Given the description of an element on the screen output the (x, y) to click on. 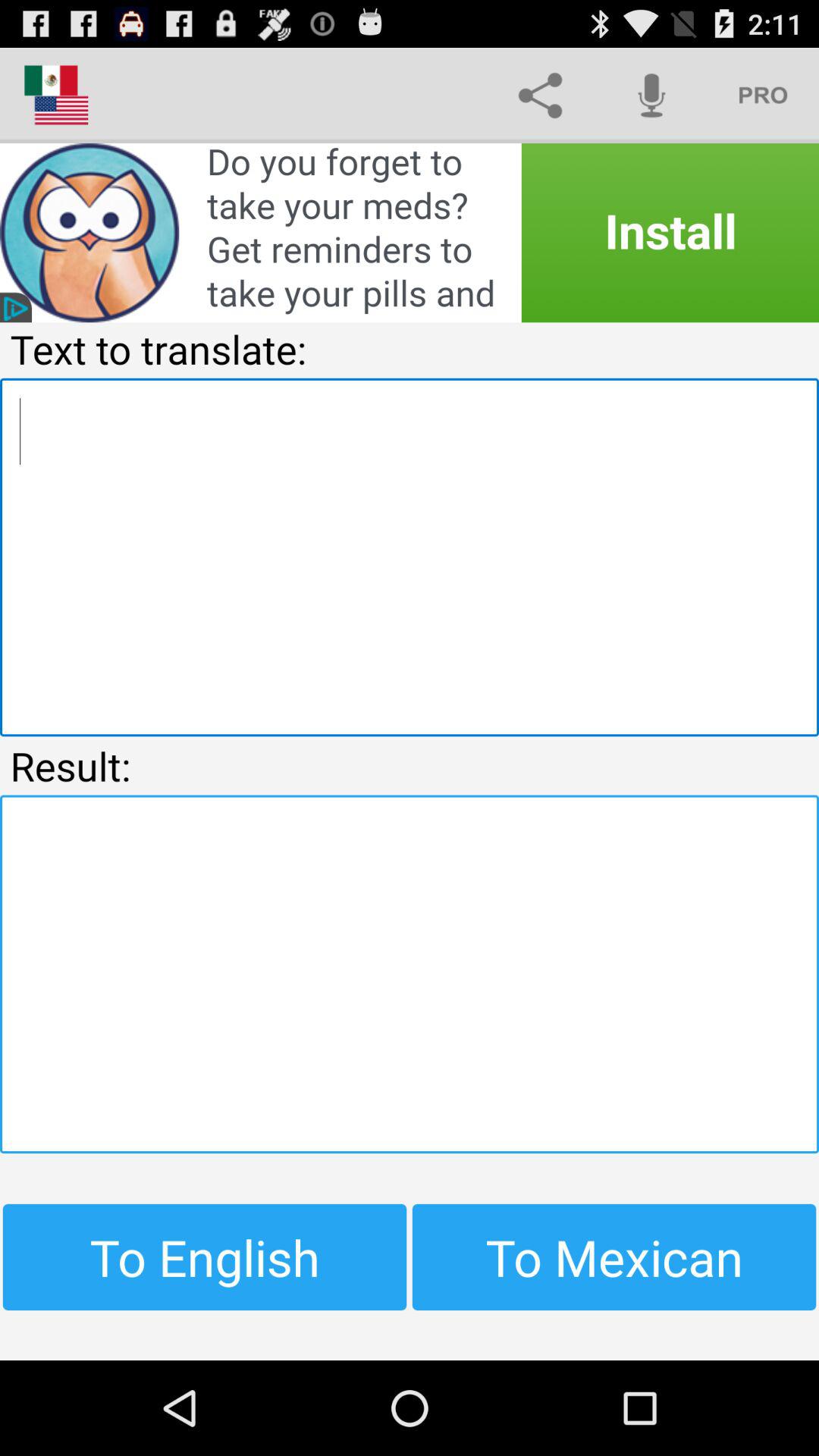
tap the item next to to english (614, 1257)
